Given the description of an element on the screen output the (x, y) to click on. 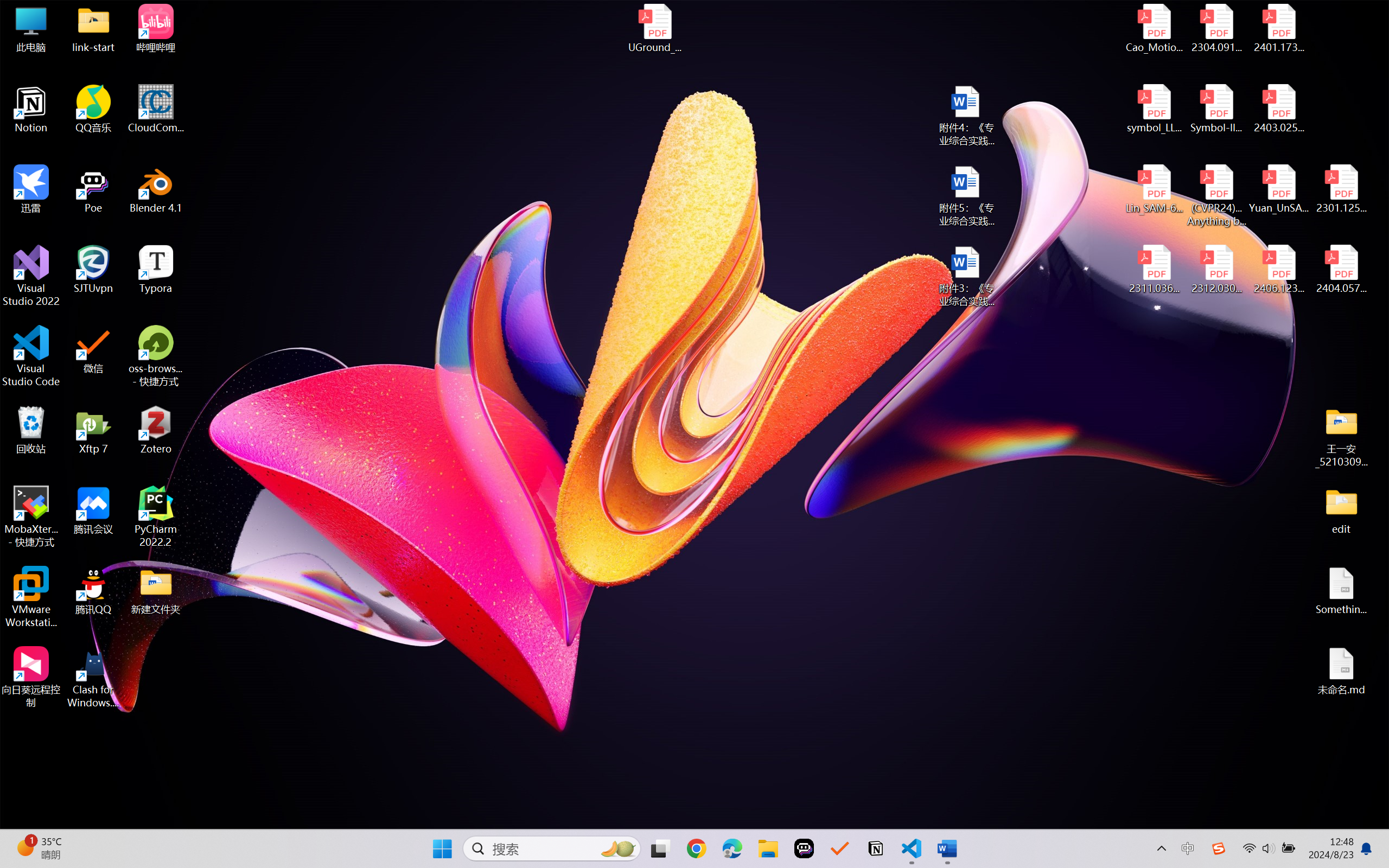
2311.03658v2.pdf (1154, 269)
edit (1340, 510)
Symbol-llm-v2.pdf (1216, 109)
